Given the description of an element on the screen output the (x, y) to click on. 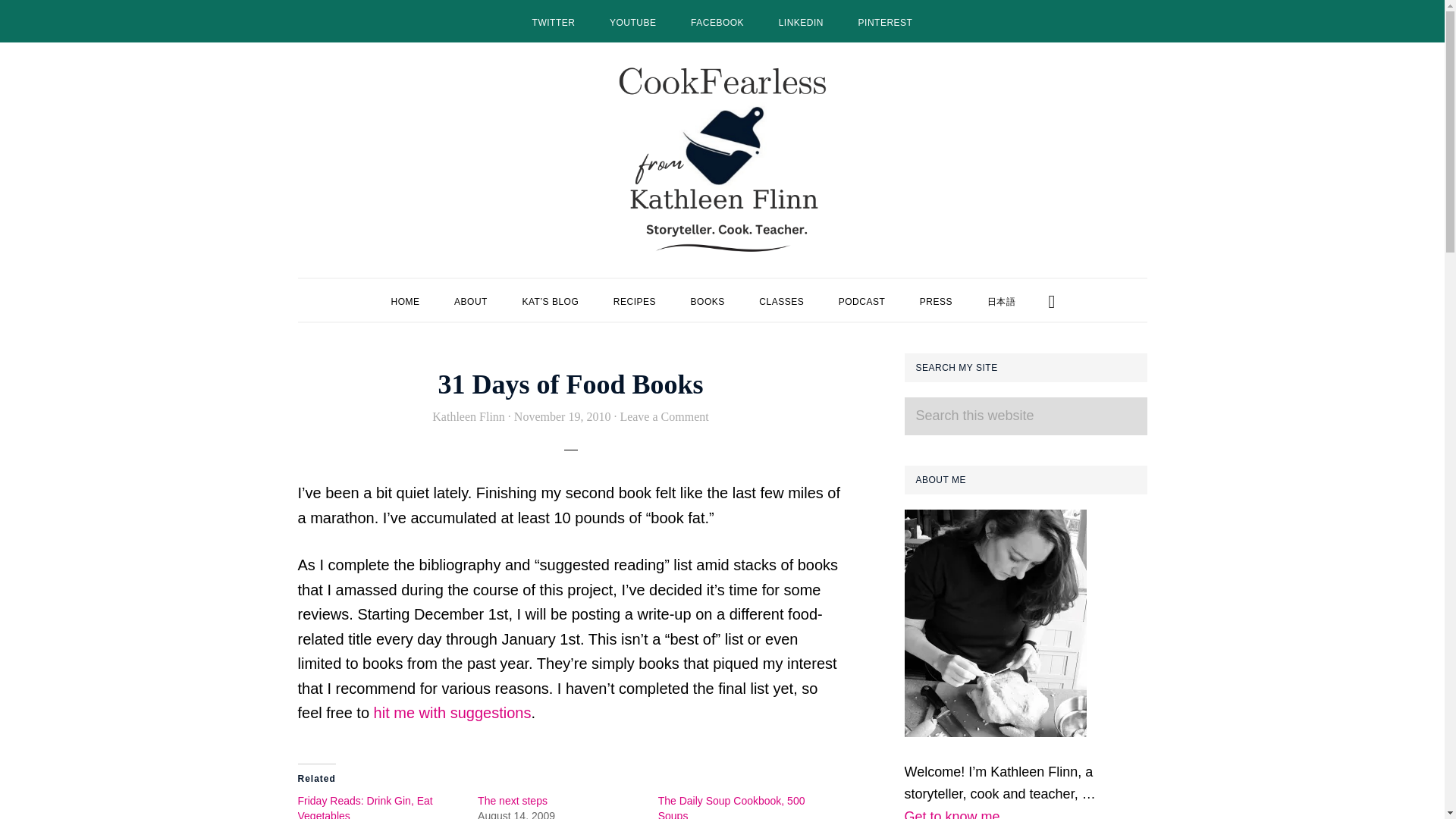
Friday Reads: Drink Gin, Eat Vegetables (364, 806)
Leave a Comment (663, 416)
Friday Reads: Drink Gin, Eat Vegetables (364, 806)
LINKEDIN (800, 21)
The next steps (512, 800)
YOUTUBE (632, 21)
PRESS (936, 300)
Kathleen Flinn (468, 416)
BOOKS (707, 300)
The Daily Soup Cookbook, 500 Soups (731, 806)
PINTEREST (885, 21)
HOME (404, 300)
ABOUT (470, 300)
FACEBOOK (716, 21)
